Given the description of an element on the screen output the (x, y) to click on. 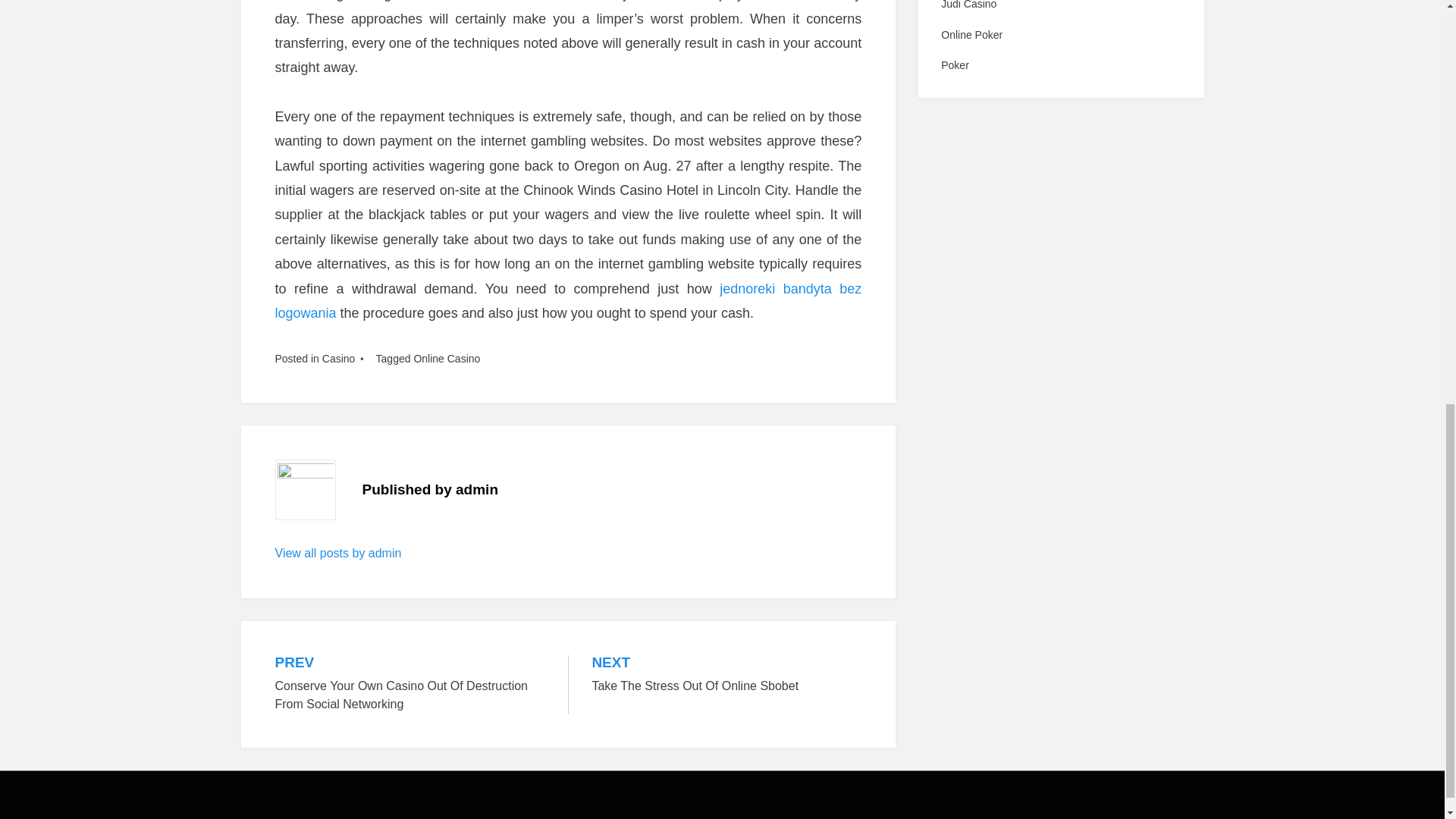
jednoreki bandyta bez logowania (568, 300)
Casino (338, 358)
View all posts by admin (338, 553)
Online Poker (726, 675)
Online Casino (1060, 35)
Poker (446, 358)
Judi Casino (1060, 65)
